Given the description of an element on the screen output the (x, y) to click on. 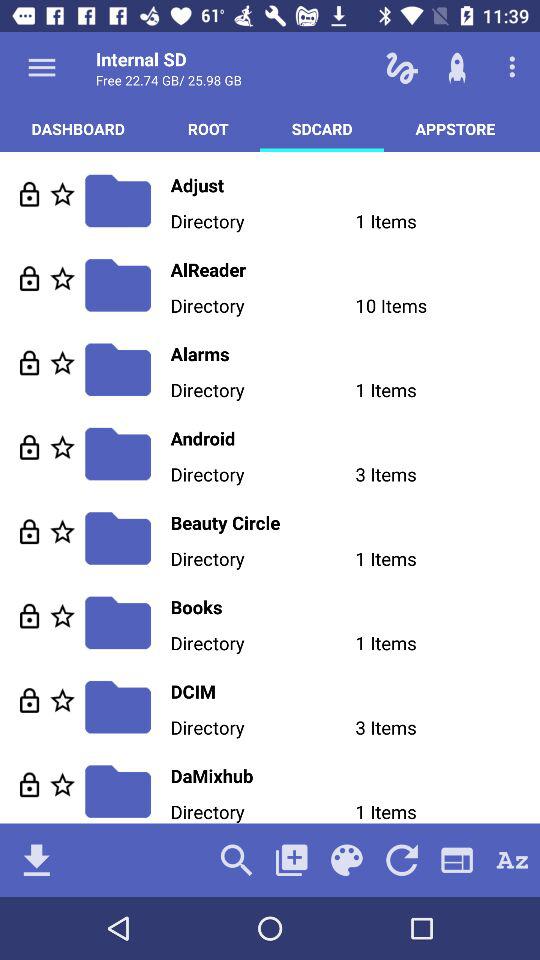
go to favorite (62, 615)
